Given the description of an element on the screen output the (x, y) to click on. 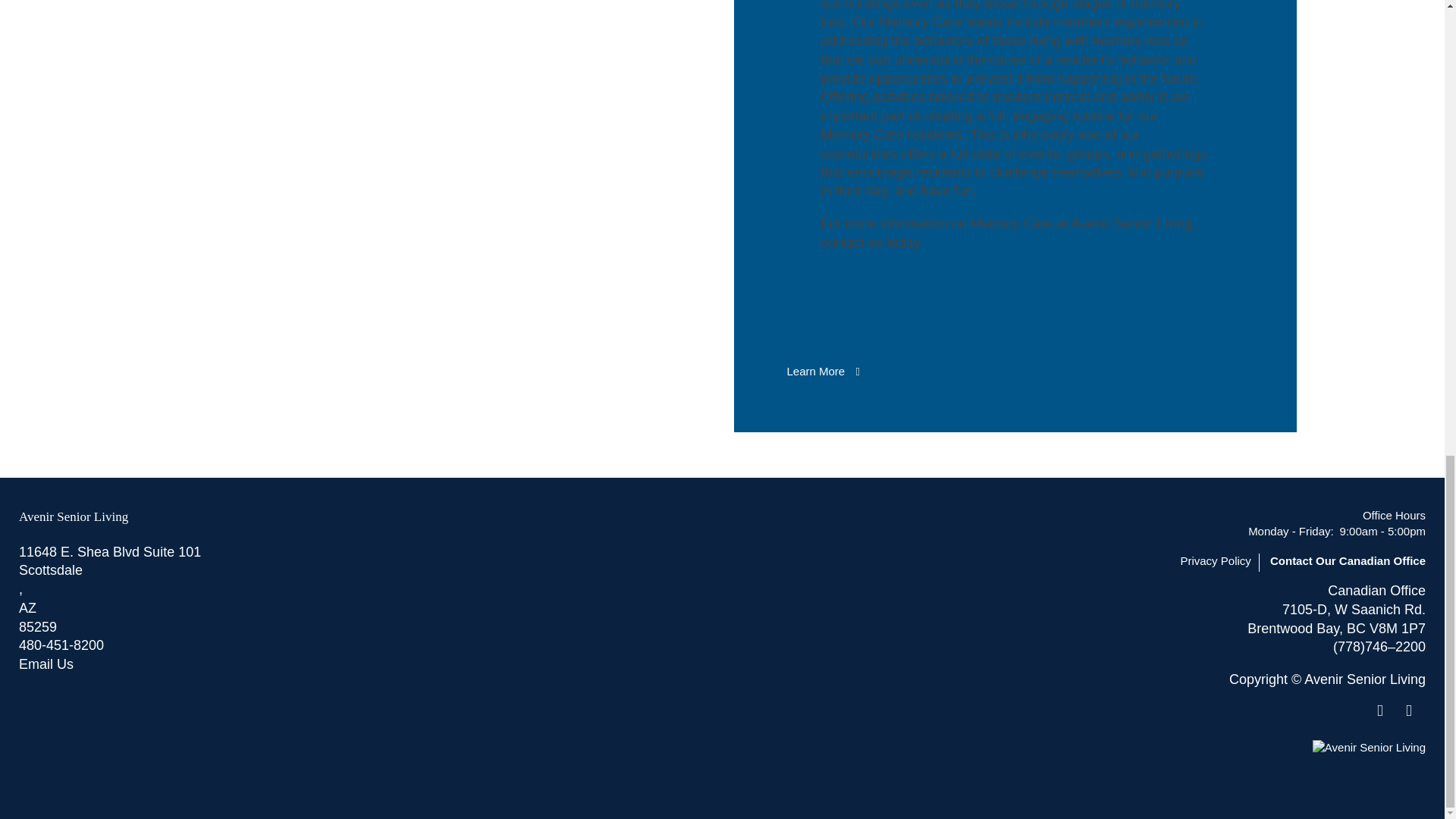
Equal Opportunity Housing (1387, 711)
Handicap Friendly (1412, 711)
Learn More (822, 371)
Email Us (370, 664)
Privacy Policy (1219, 562)
Contact Our Canadian Office (1347, 562)
